Given the description of an element on the screen output the (x, y) to click on. 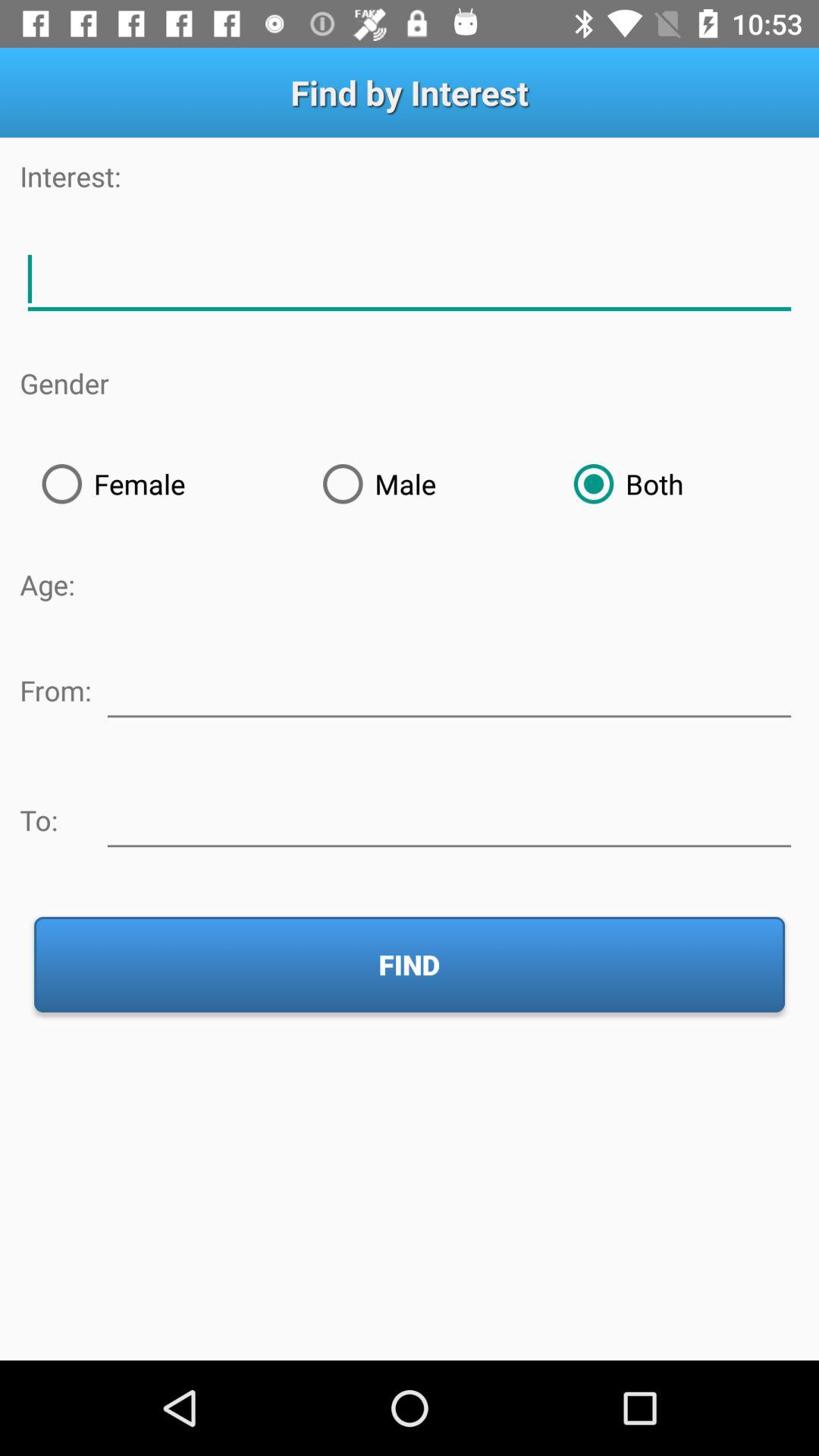
input name to send to (449, 817)
